Given the description of an element on the screen output the (x, y) to click on. 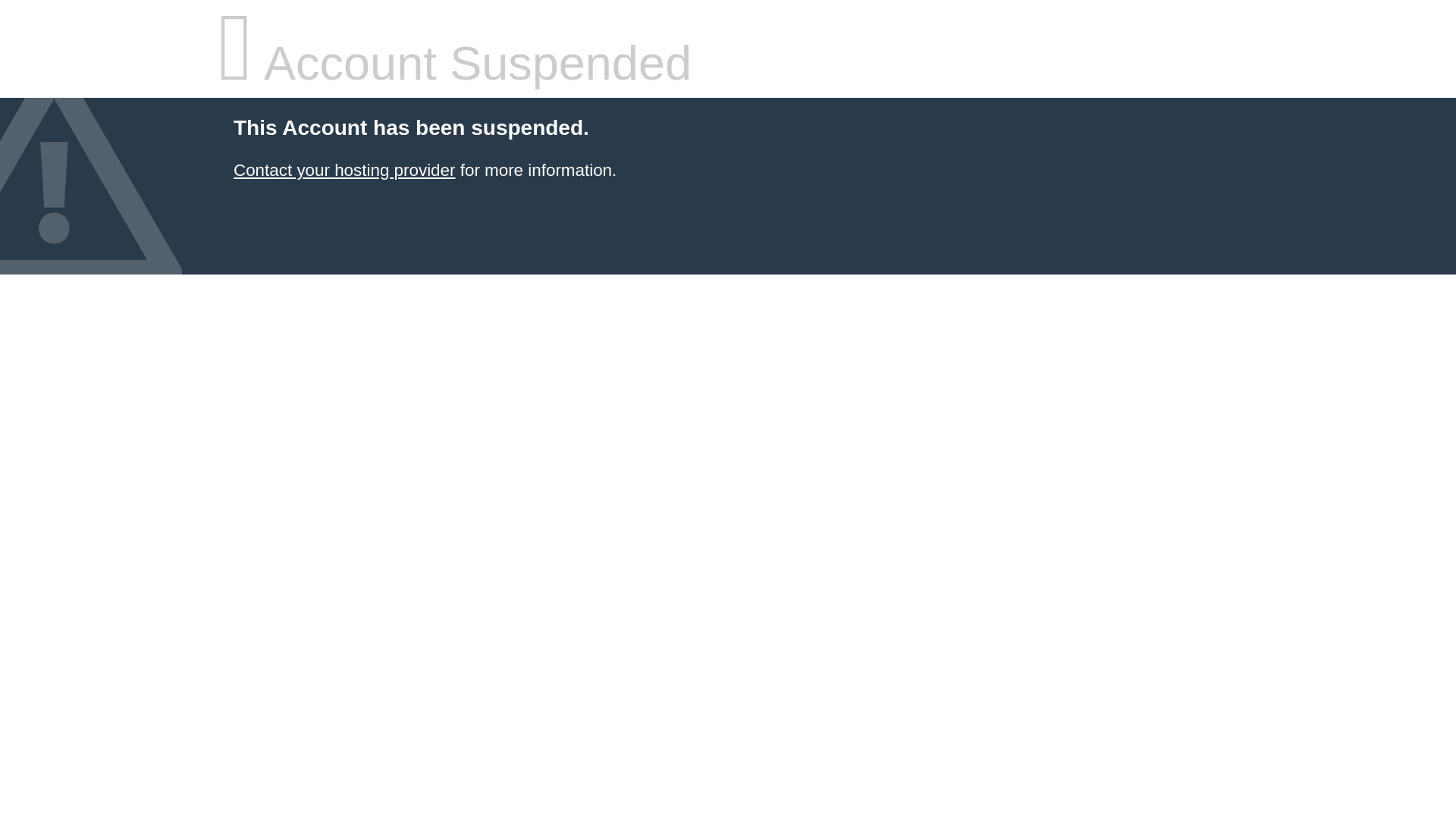
Contact your hosting provider (343, 169)
